Given the description of an element on the screen output the (x, y) to click on. 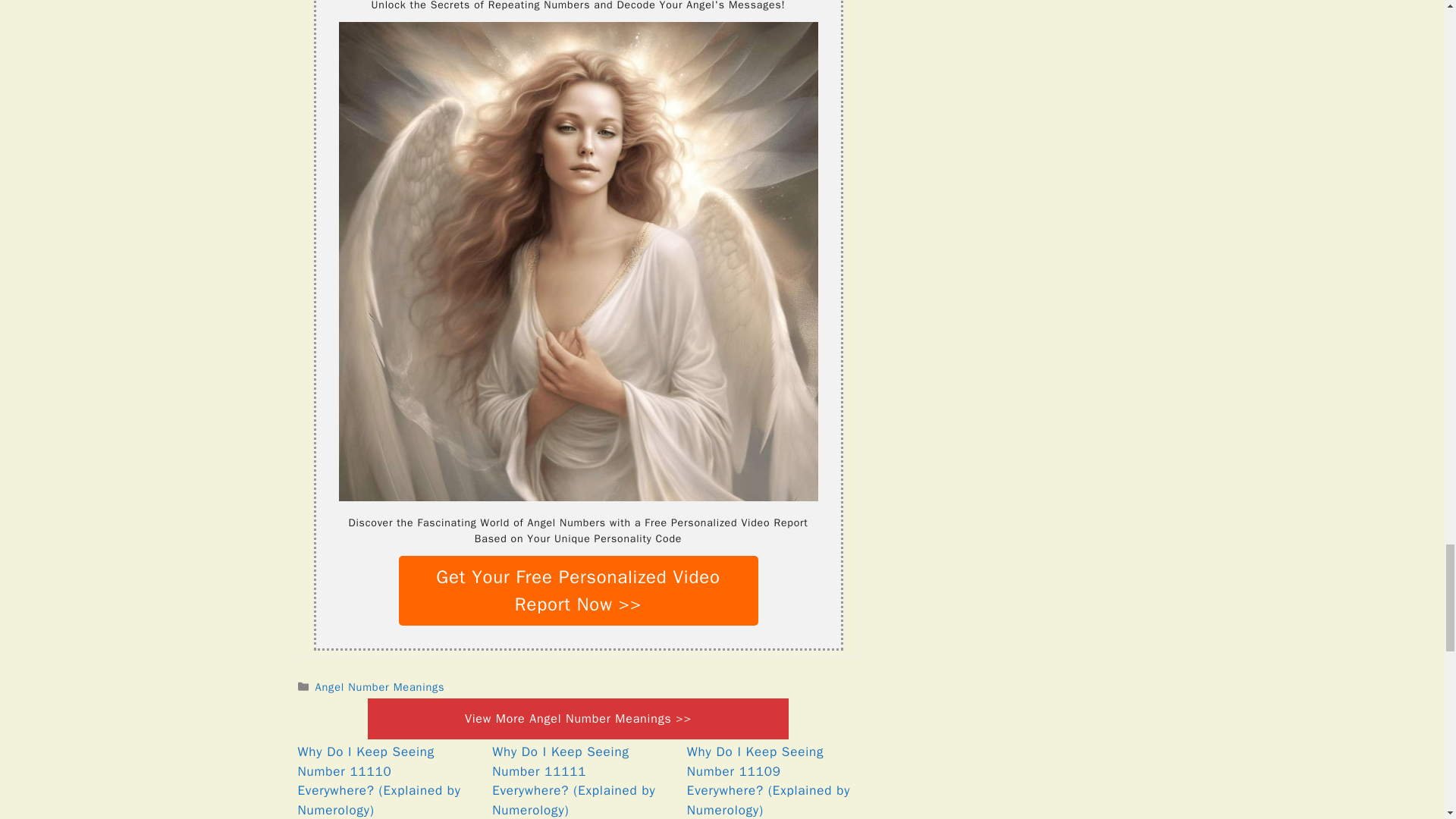
Angel Number Meanings (380, 686)
